Given the description of an element on the screen output the (x, y) to click on. 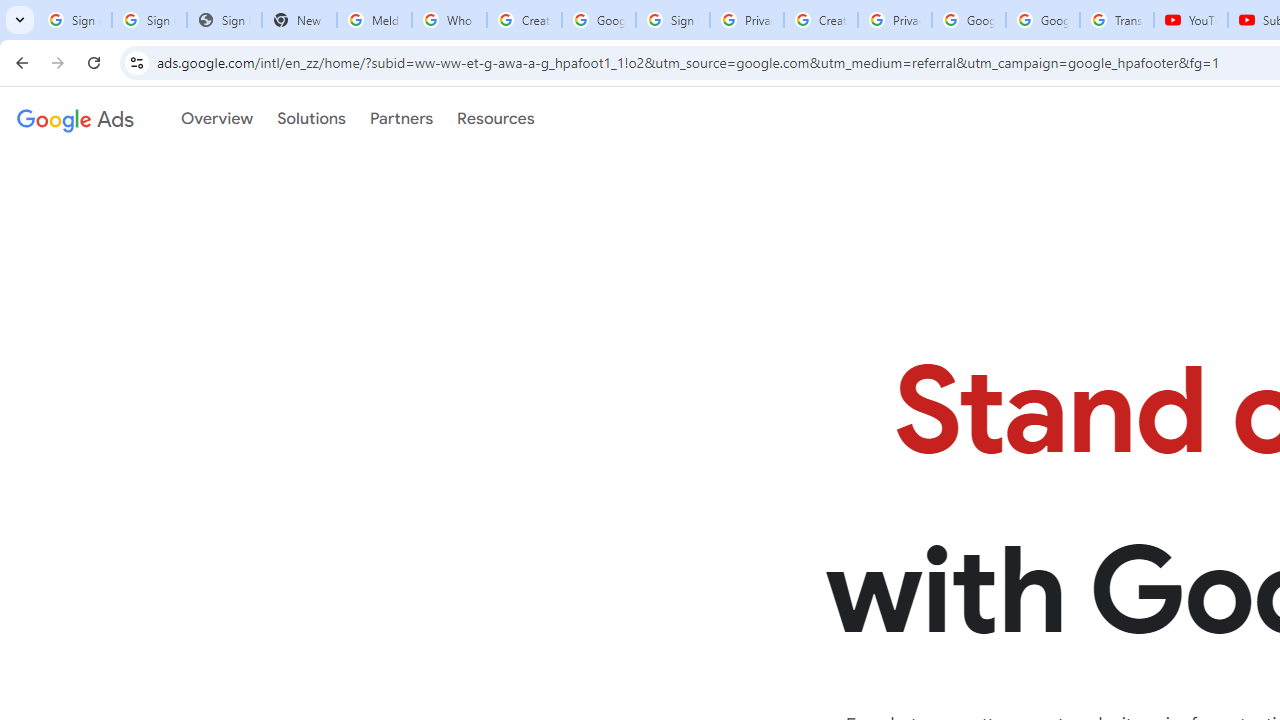
Who is my administrator? - Google Account Help (449, 20)
Sign in - Google Accounts (673, 20)
Solutions (311, 119)
Create your Google Account (820, 20)
Resources (495, 119)
